Given the description of an element on the screen output the (x, y) to click on. 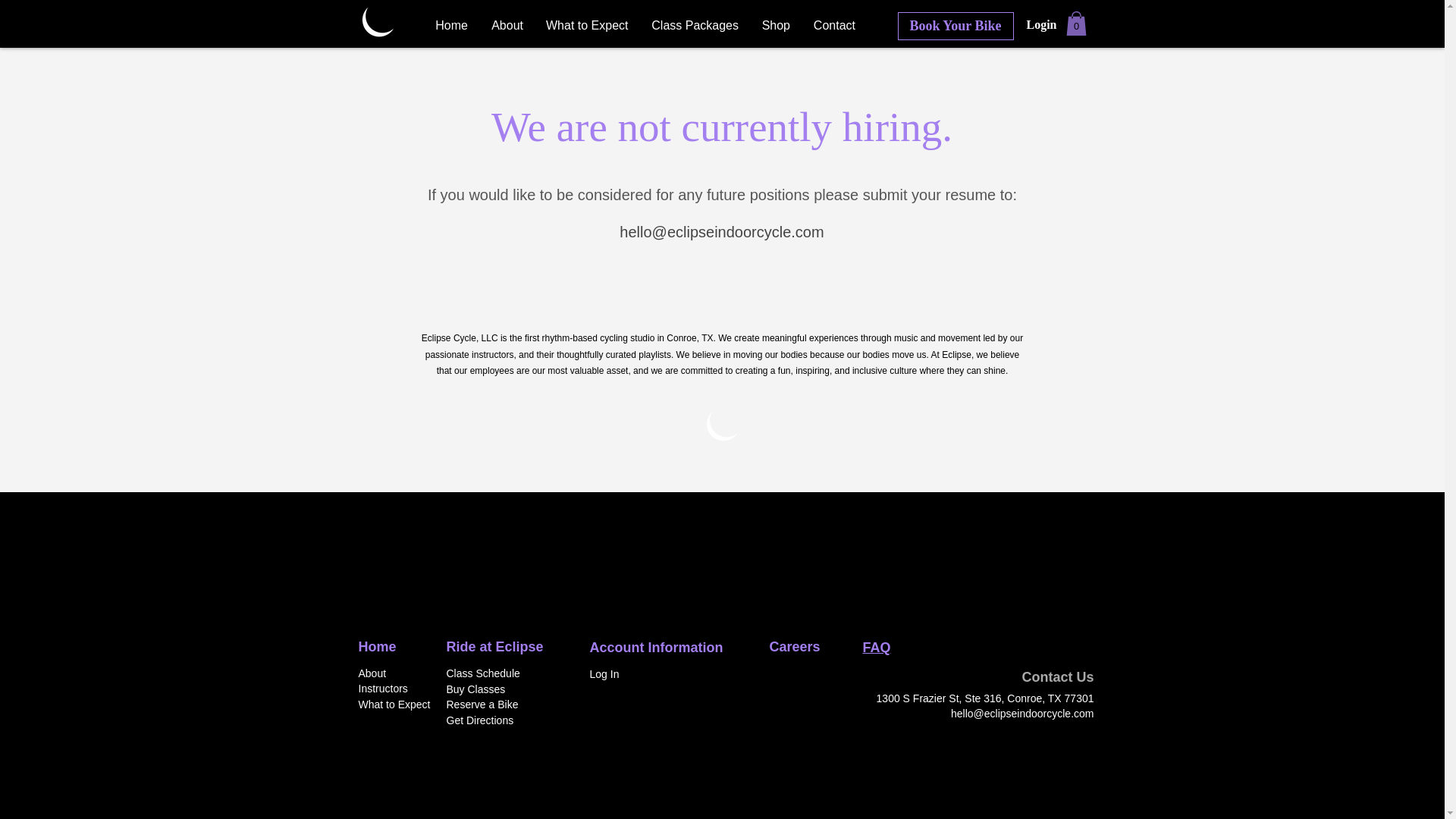
About (506, 25)
What to Expect (393, 704)
About (371, 673)
Get Directions (479, 720)
Home (377, 646)
Reserve a Bike (481, 704)
Contact Us (1057, 676)
Home (451, 25)
Buy Classes (475, 689)
Instructors (382, 688)
Careers (793, 646)
Book Your Bike (955, 26)
Contact (834, 25)
Class Schedule (482, 673)
Account Information (656, 647)
